Given the description of an element on the screen output the (x, y) to click on. 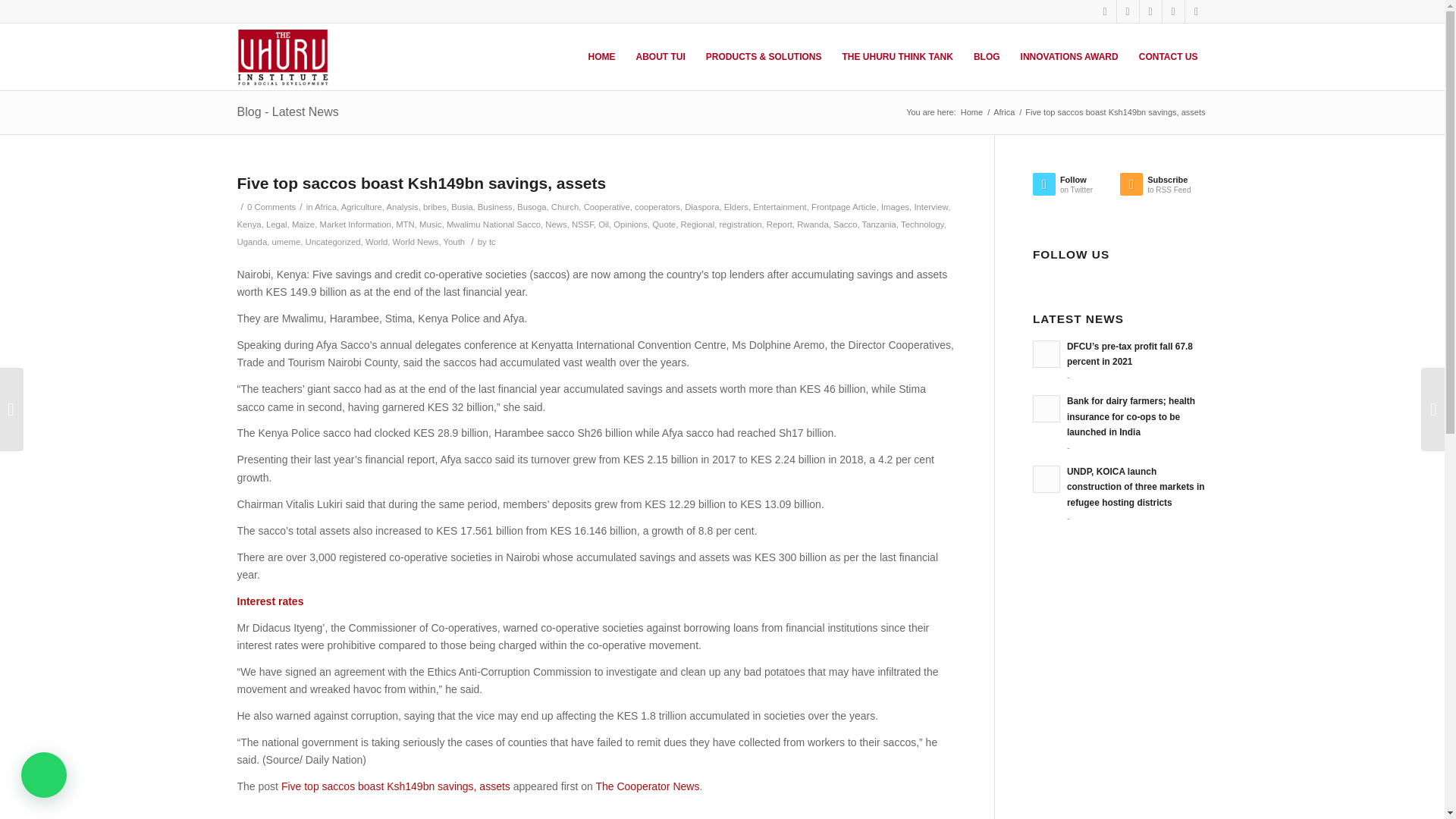
ABOUT TUI (659, 56)
Business (494, 206)
Cooperative (606, 206)
Permanent Link: Blog - Latest News (286, 111)
Busia (461, 206)
0 Comments (271, 206)
Instagram (1172, 11)
LinkedIn (1149, 11)
THE UHURU THINK TANK (896, 56)
Africa (325, 206)
Twitter (1104, 11)
HOME (601, 56)
bribes (434, 206)
Analysis (403, 206)
Agriculture (360, 206)
